Given the description of an element on the screen output the (x, y) to click on. 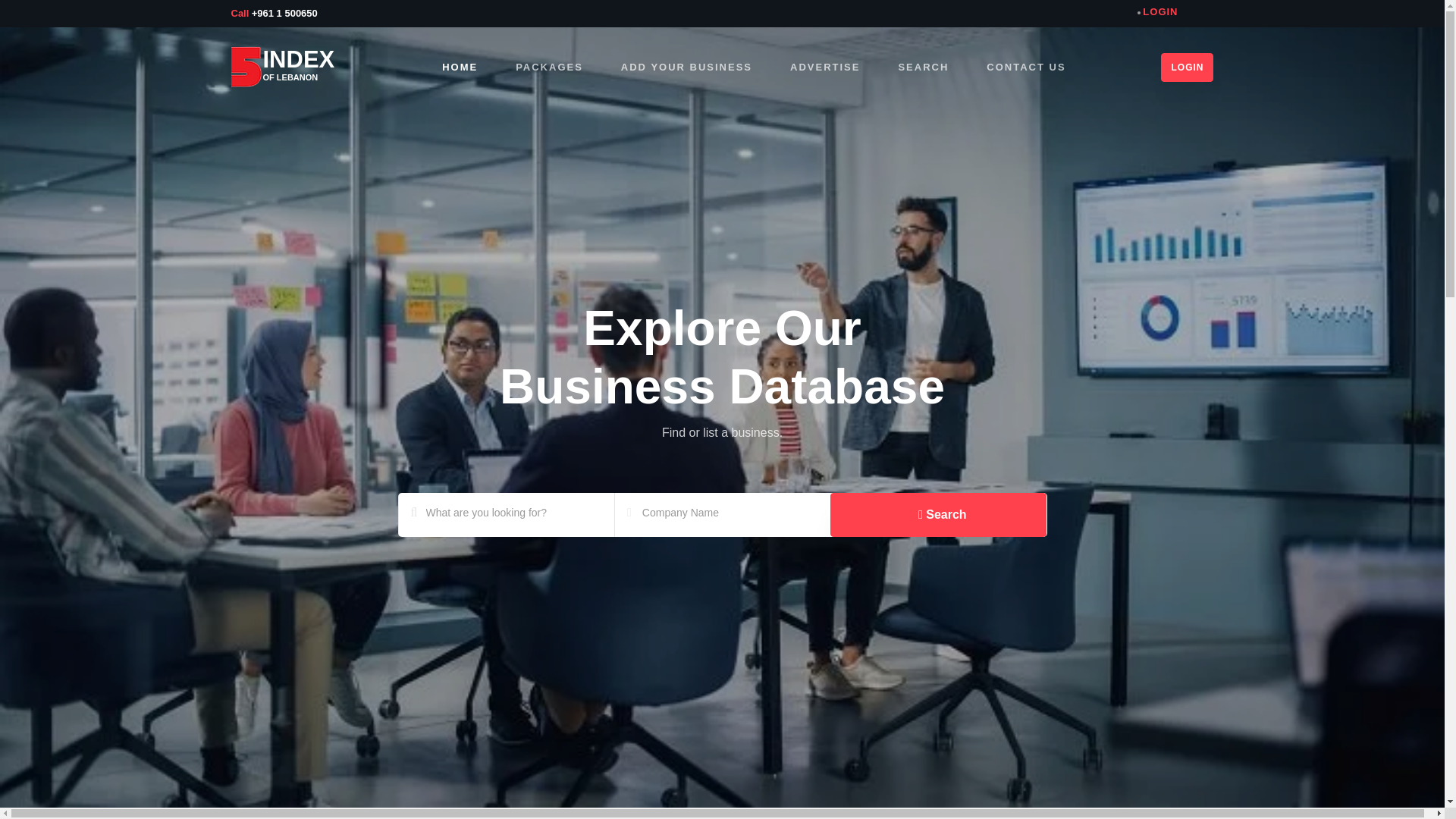
Logo (246, 66)
CONTACT US (1026, 67)
Search (937, 515)
ADD YOUR BUSINESS (686, 67)
PACKAGES (549, 67)
LOGIN (1157, 12)
ADVERTISE (825, 67)
HOME (459, 67)
LOGIN (1186, 67)
SEARCH (923, 67)
